Given the description of an element on the screen output the (x, y) to click on. 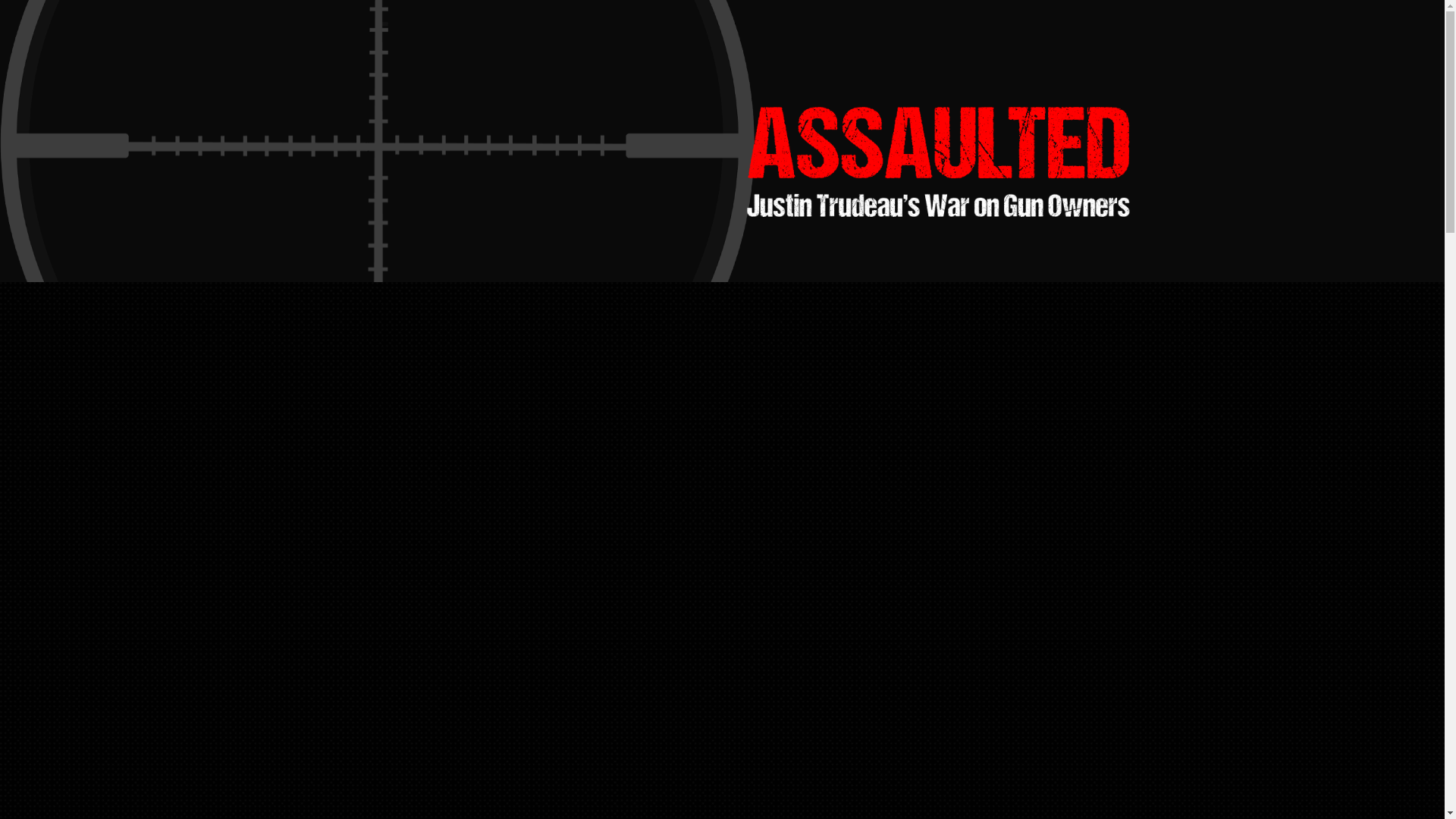
logo-text Element type: hover (937, 142)
subtitle Element type: hover (937, 205)
